Given the description of an element on the screen output the (x, y) to click on. 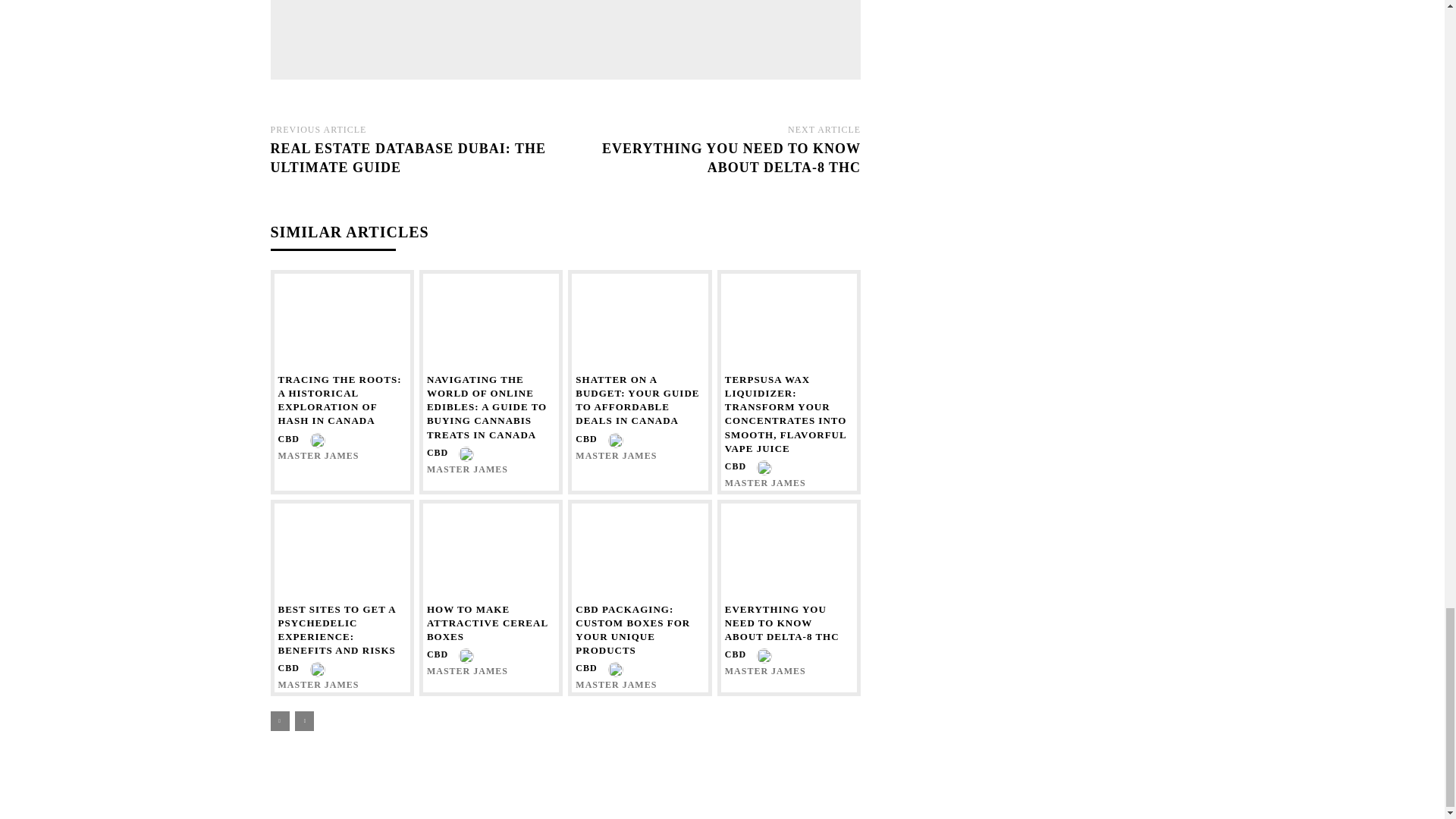
Master James (475, 31)
